Given the description of an element on the screen output the (x, y) to click on. 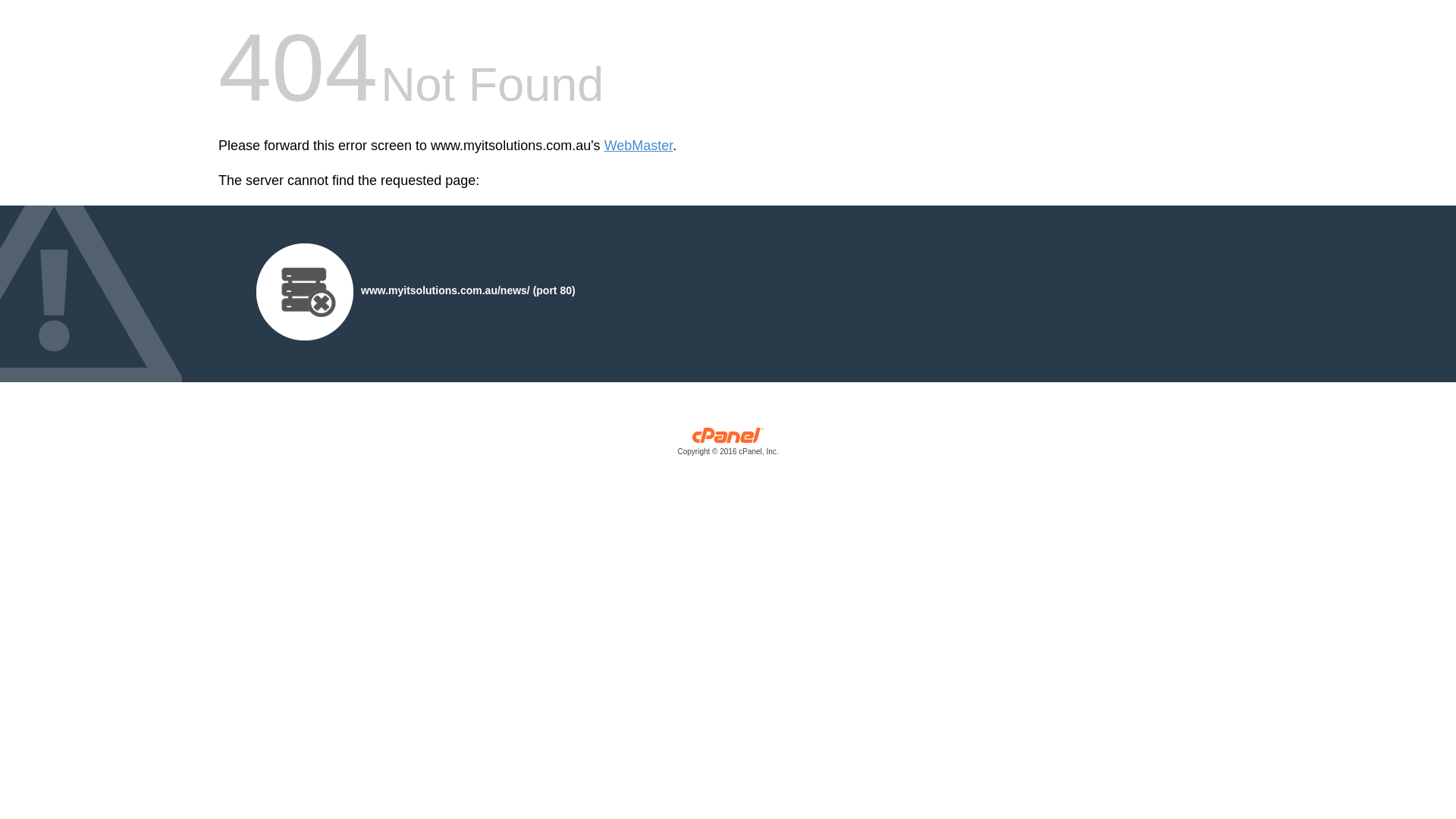
WebMaster Element type: text (638, 145)
